Given the description of an element on the screen output the (x, y) to click on. 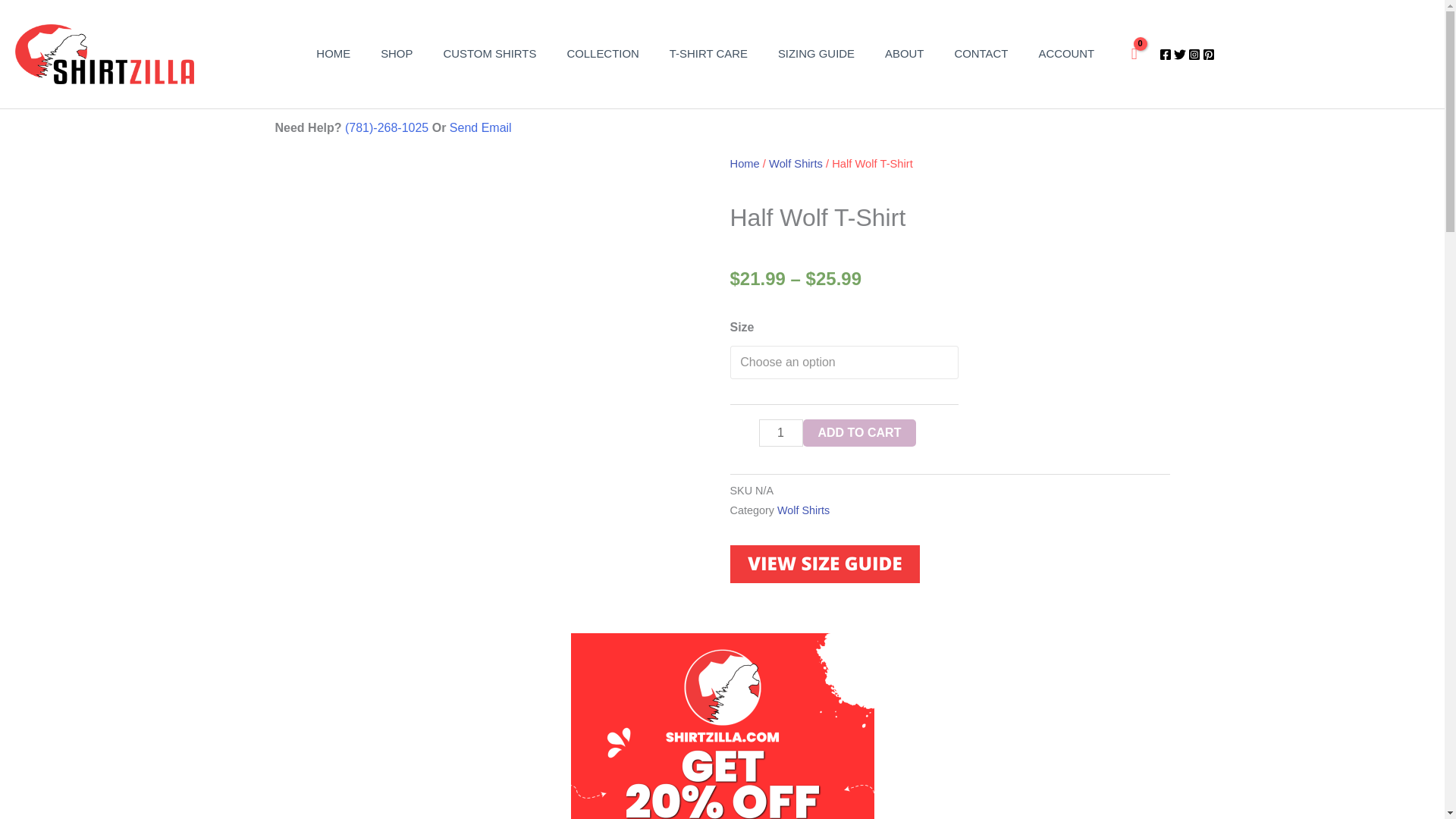
CONTACT (981, 53)
SIZING GUIDE (815, 53)
Wolf Shirts (795, 163)
CUSTOM SHIRTS (489, 53)
HOME (333, 53)
COLLECTION (602, 53)
Wolf Shirts (803, 510)
T-SHIRT CARE (707, 53)
ADD TO CART (858, 432)
Account (1066, 53)
